Given the description of an element on the screen output the (x, y) to click on. 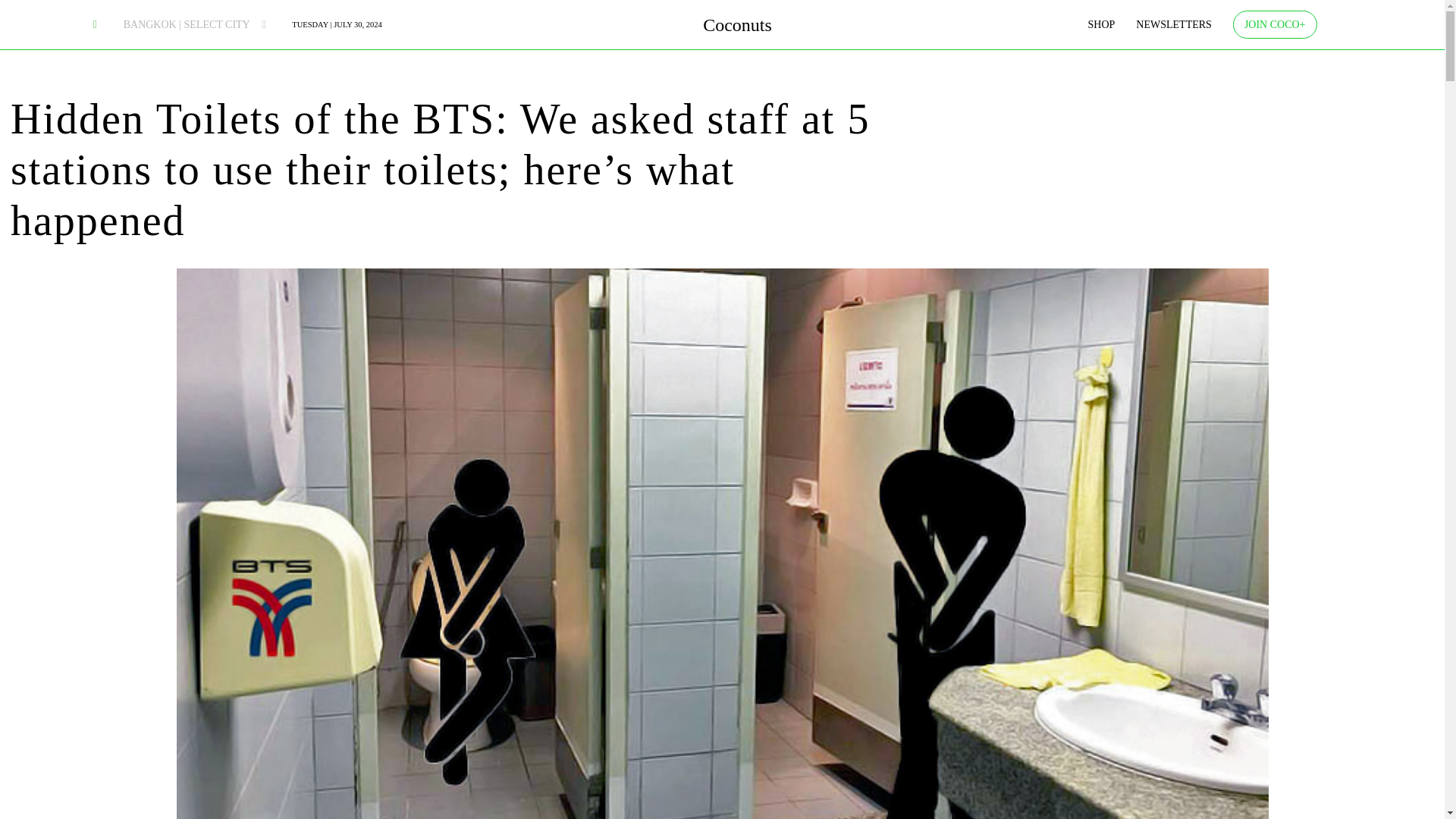
Search (266, 58)
